Given the description of an element on the screen output the (x, y) to click on. 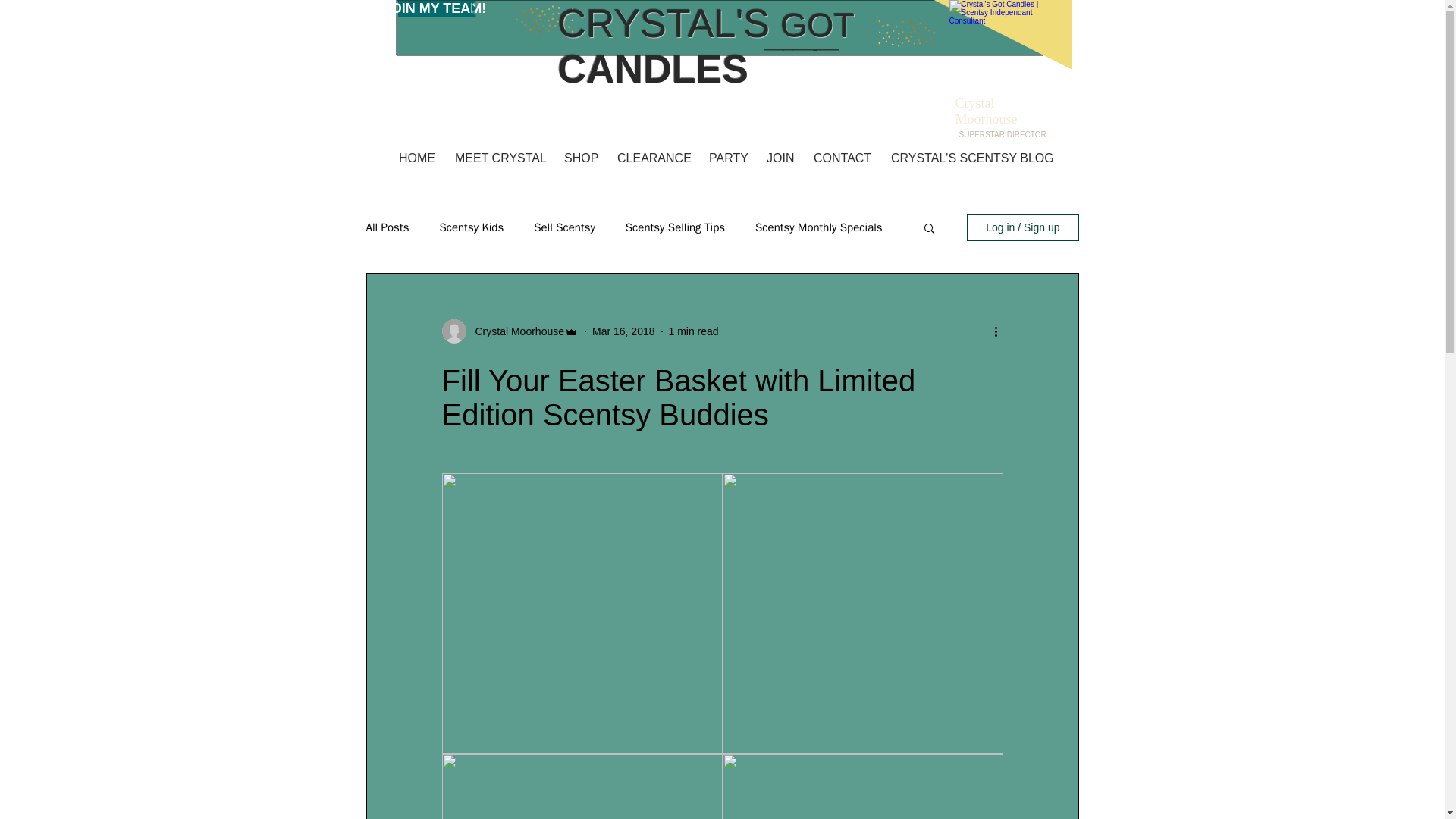
Crystal Moorhouse (514, 330)
Scentsy Selling Tips (675, 227)
JOIN MY TEAM! (434, 8)
Scentsy Monthly Specials (818, 227)
1 min read (693, 330)
CRYSTAL'S SCENTSY BLOG (967, 151)
SHOP (580, 151)
SUPERSTAR DIRECTOR (1001, 134)
Scentsy Corporate Site (994, 15)
Sell Scentsy (564, 227)
